Given the description of an element on the screen output the (x, y) to click on. 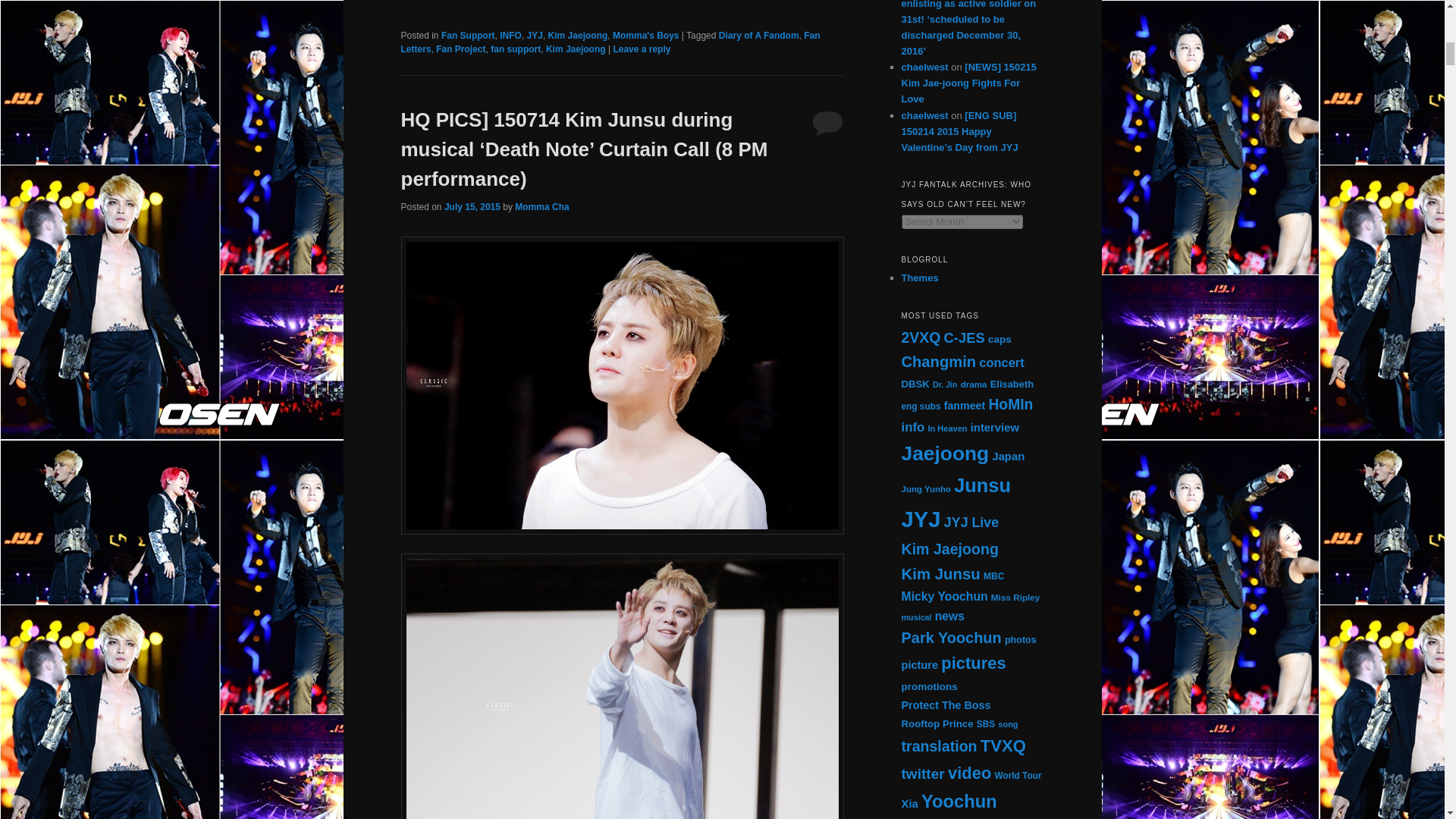
Fan Letters (609, 42)
10:27 am (472, 206)
Kim Jaejoong (578, 35)
JYJ (535, 35)
Momma's Boys (645, 35)
Fan Support (468, 35)
fan support (515, 49)
View all posts by Momma Cha (542, 206)
July 15, 2015 (472, 206)
Leave a reply (640, 49)
